Given the description of an element on the screen output the (x, y) to click on. 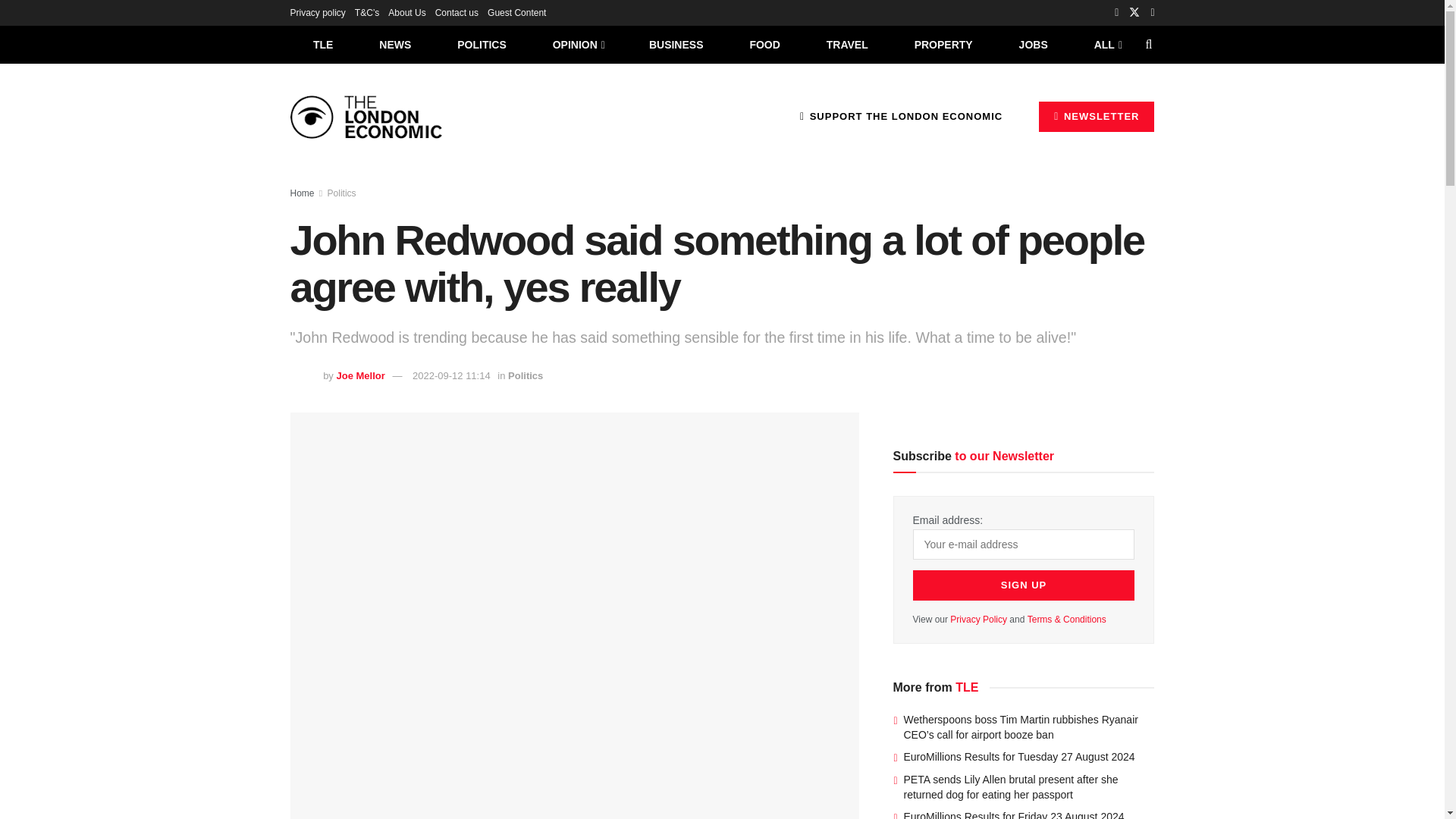
About Us (406, 12)
Home (301, 193)
BUSINESS (676, 44)
Contact us (457, 12)
JOBS (1032, 44)
NEWS (394, 44)
SUPPORT THE LONDON ECONOMIC (900, 116)
Sign up (1023, 585)
TLE (322, 44)
PROPERTY (943, 44)
